Given the description of an element on the screen output the (x, y) to click on. 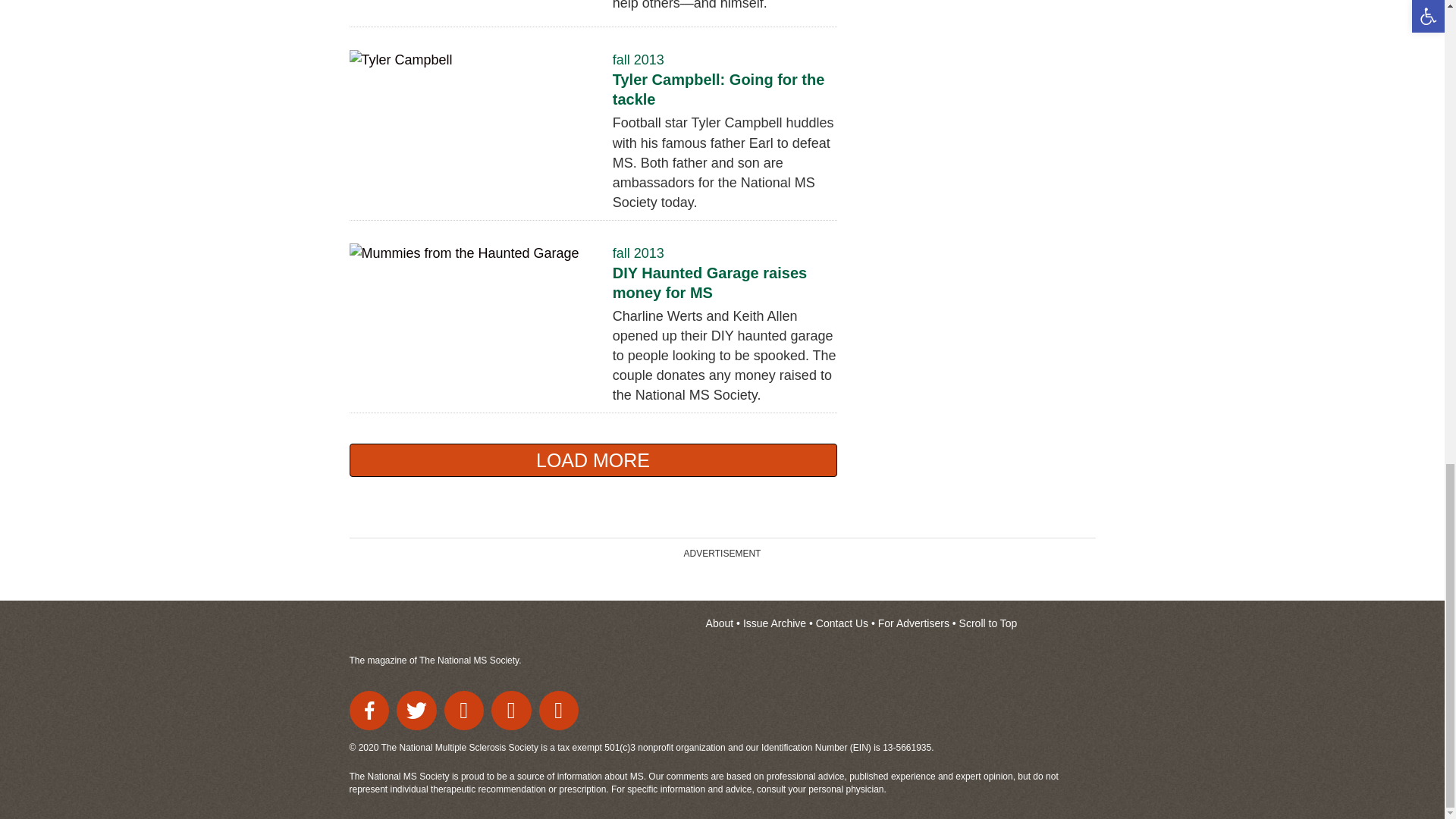
fall 2013 (637, 59)
DIY Haunted Garage raises money for MS (709, 282)
Tyler Campbell: Going for the tackle (718, 89)
